Given the description of an element on the screen output the (x, y) to click on. 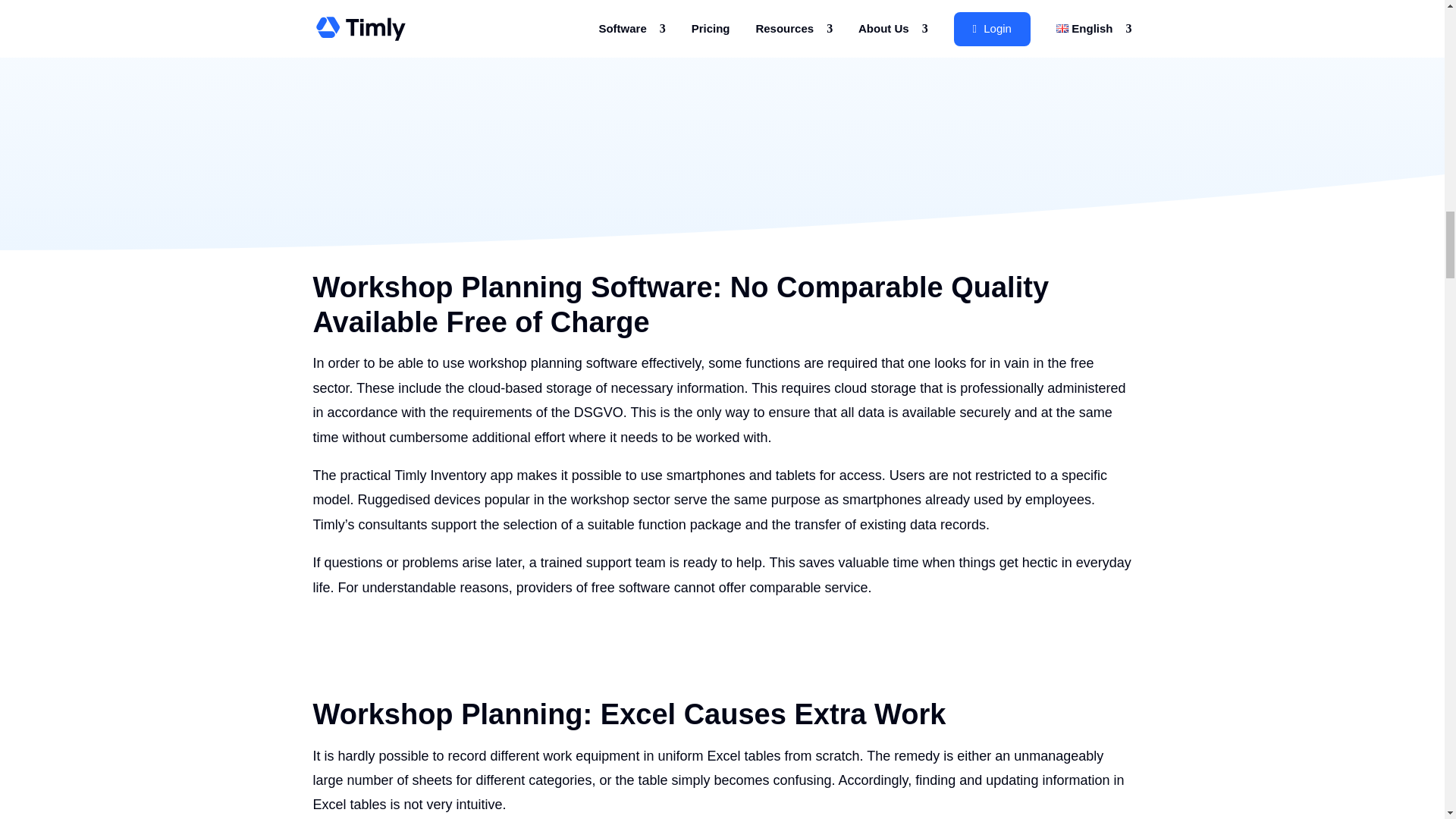
Euromaster-2015-logo (1131, 38)
Philips Medical Logo (614, 113)
Isar Aerospace Logo (927, 41)
Siemens-logo (313, 39)
BASF-Logo-blue (397, 120)
IHK-logo (829, 118)
